Given the description of an element on the screen output the (x, y) to click on. 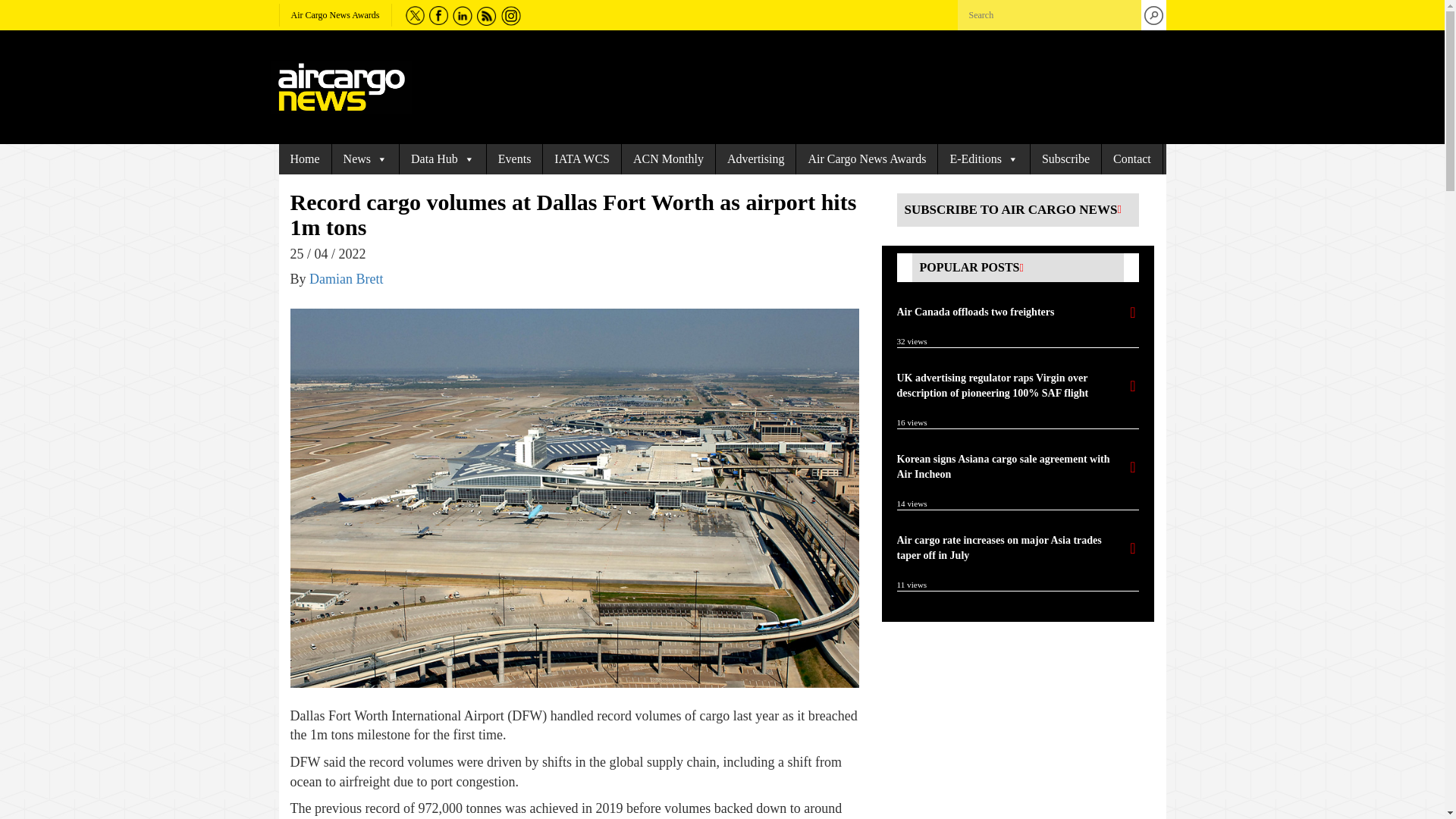
Air Cargo News Awards (335, 14)
Home (305, 159)
News (364, 159)
3rd party ad content (1010, 729)
3rd party ad content (786, 87)
